Given the description of an element on the screen output the (x, y) to click on. 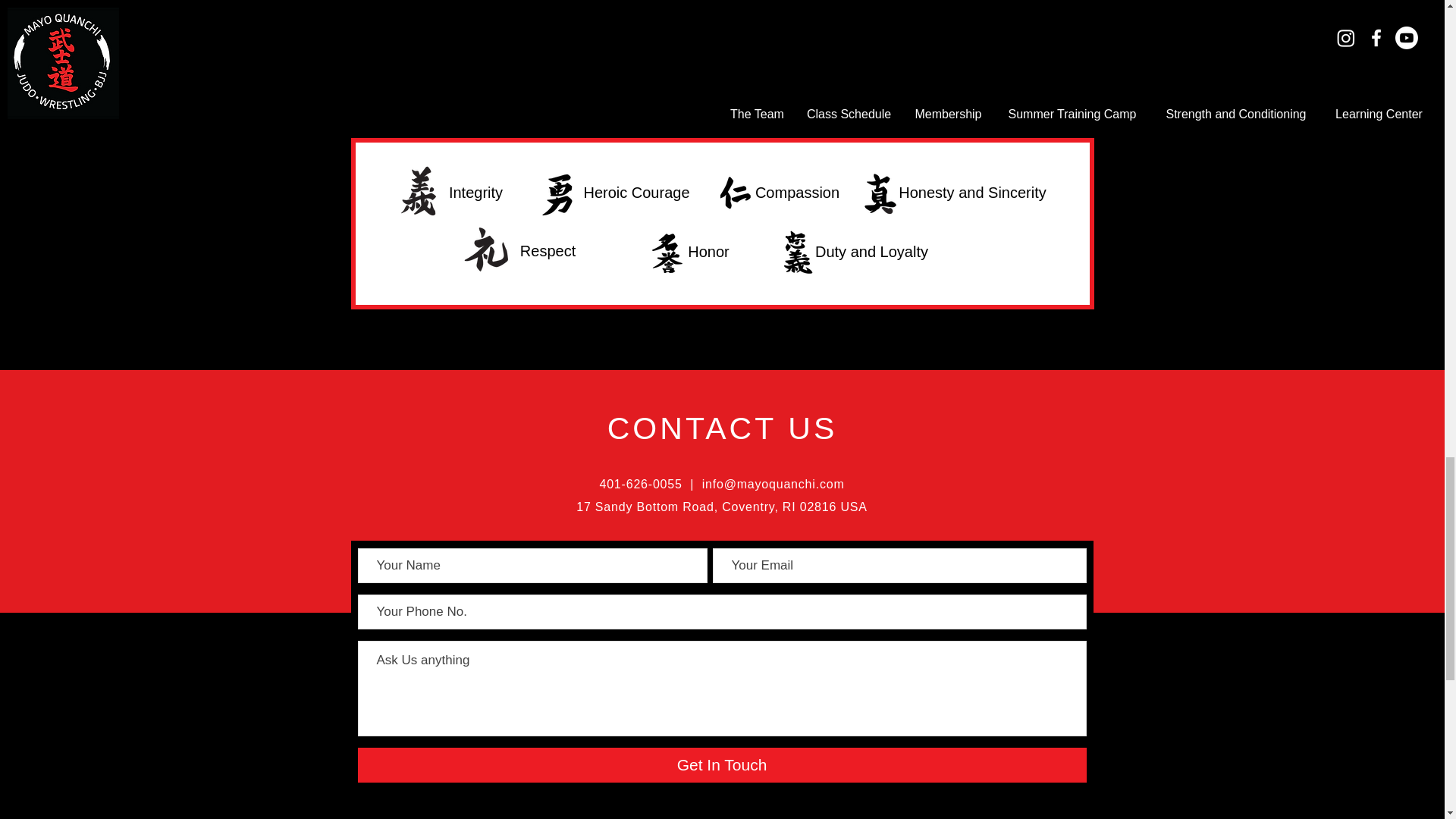
Integrity.png (419, 190)
Heroric Courage.png (558, 191)
respect.png (486, 250)
Honor.png (667, 253)
Get In Touch (722, 764)
